Given the description of an element on the screen output the (x, y) to click on. 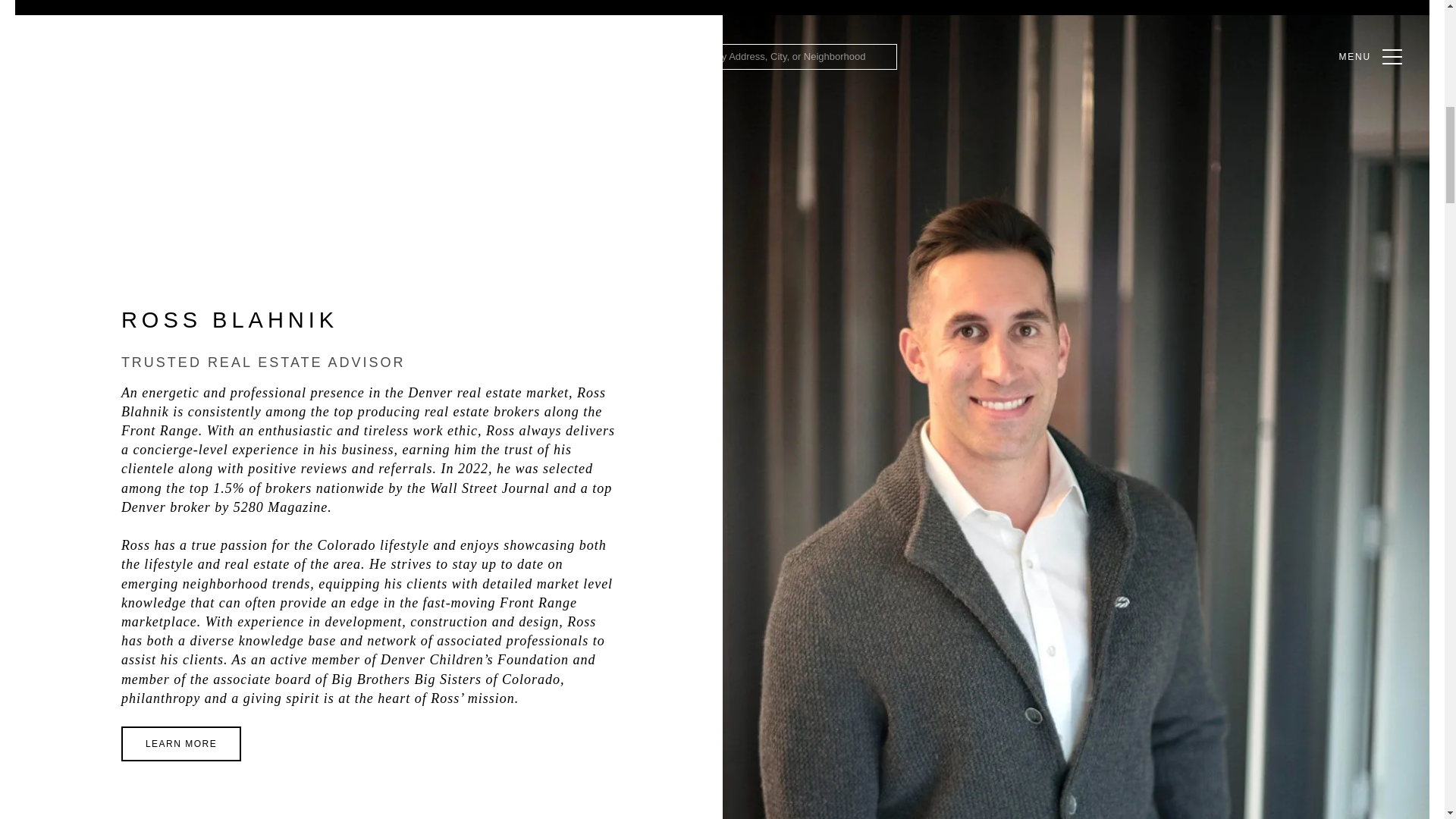
LEARN MORE (180, 743)
